Given the description of an element on the screen output the (x, y) to click on. 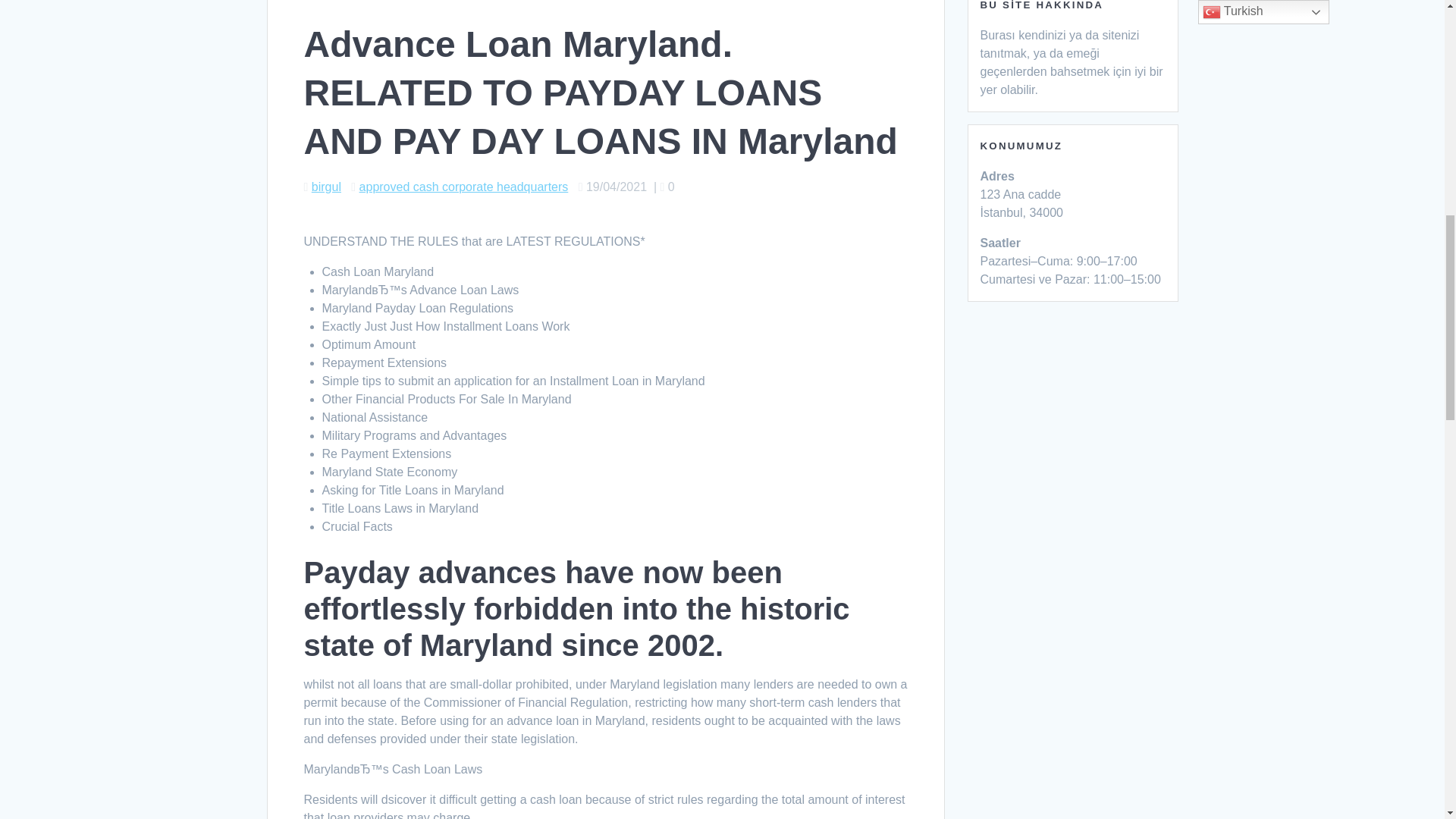
approved cash corporate headquarters (464, 186)
birgul (325, 186)
